Given the description of an element on the screen output the (x, y) to click on. 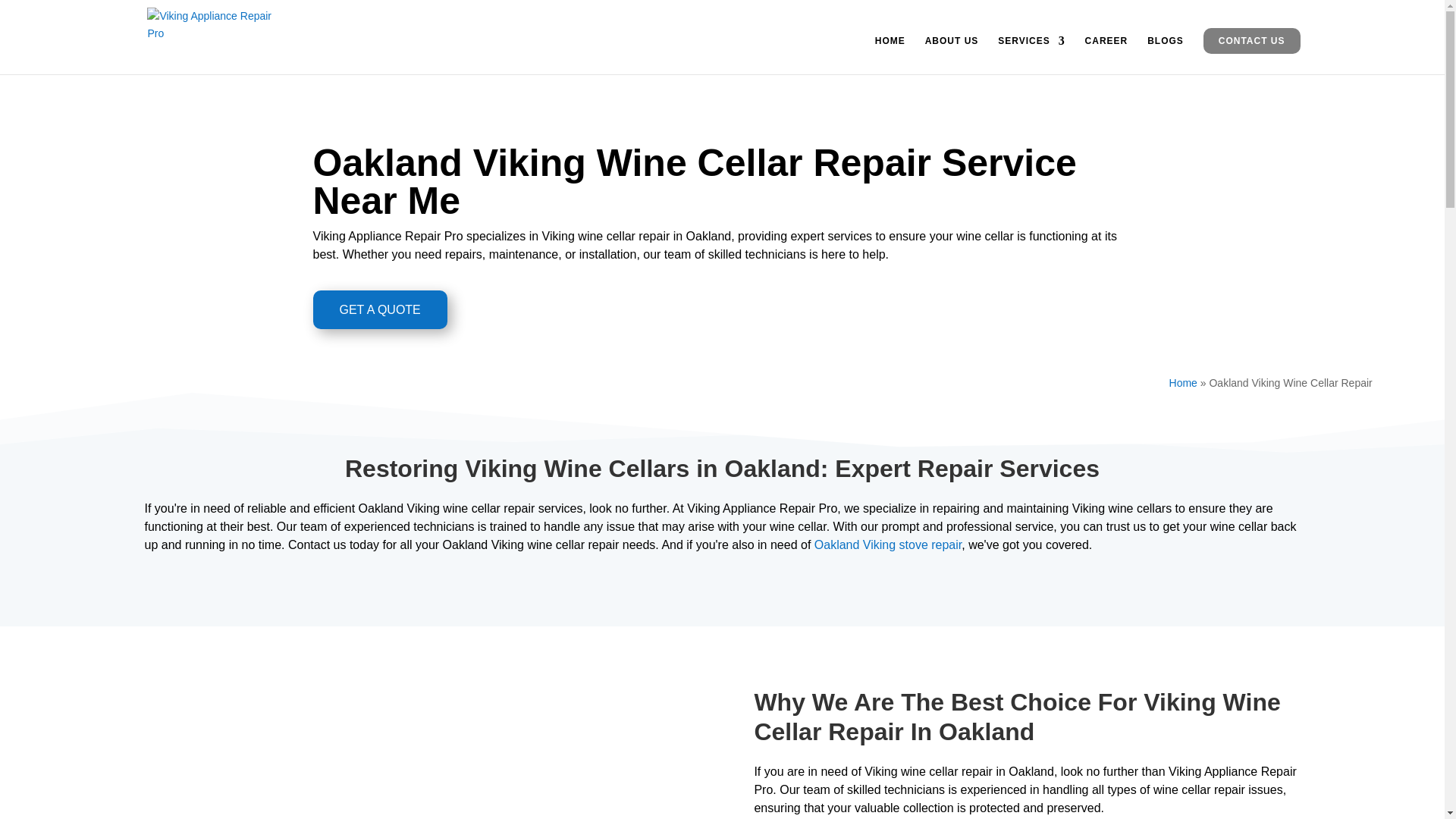
CAREER (1106, 55)
ABOUT US (951, 55)
SERVICES (1030, 55)
BLOGS (1165, 55)
Home (1182, 382)
CONTACT US (1252, 40)
Oakland Viking stove repair (886, 544)
GET A QUOTE (379, 309)
